Given the description of an element on the screen output the (x, y) to click on. 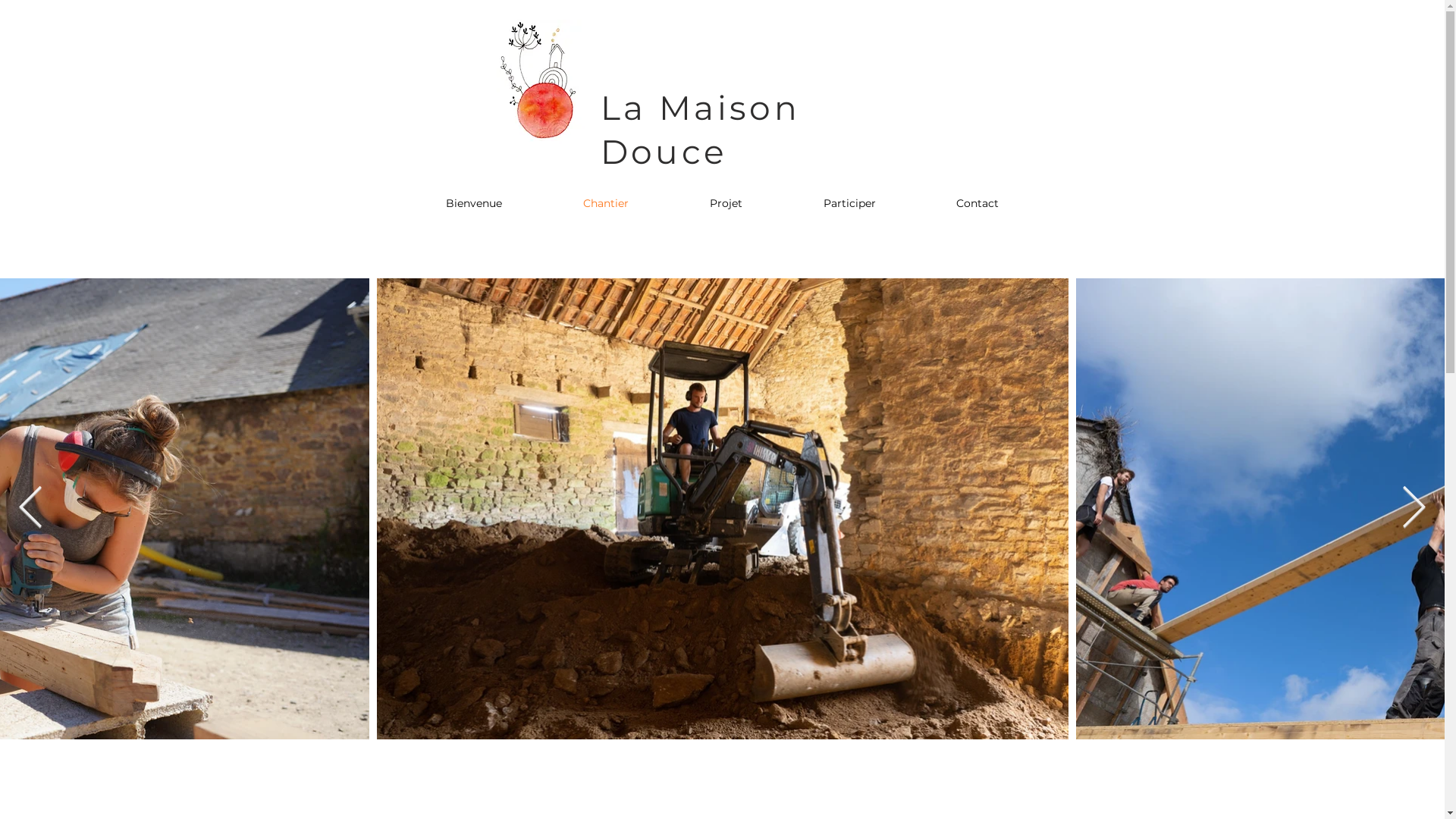
Projet Element type: text (725, 202)
Participer Element type: text (848, 202)
Chantier Element type: text (605, 202)
Contact Element type: text (977, 202)
Bienvenue Element type: text (473, 202)
La Maison Douce Element type: text (700, 129)
